Given the description of an element on the screen output the (x, y) to click on. 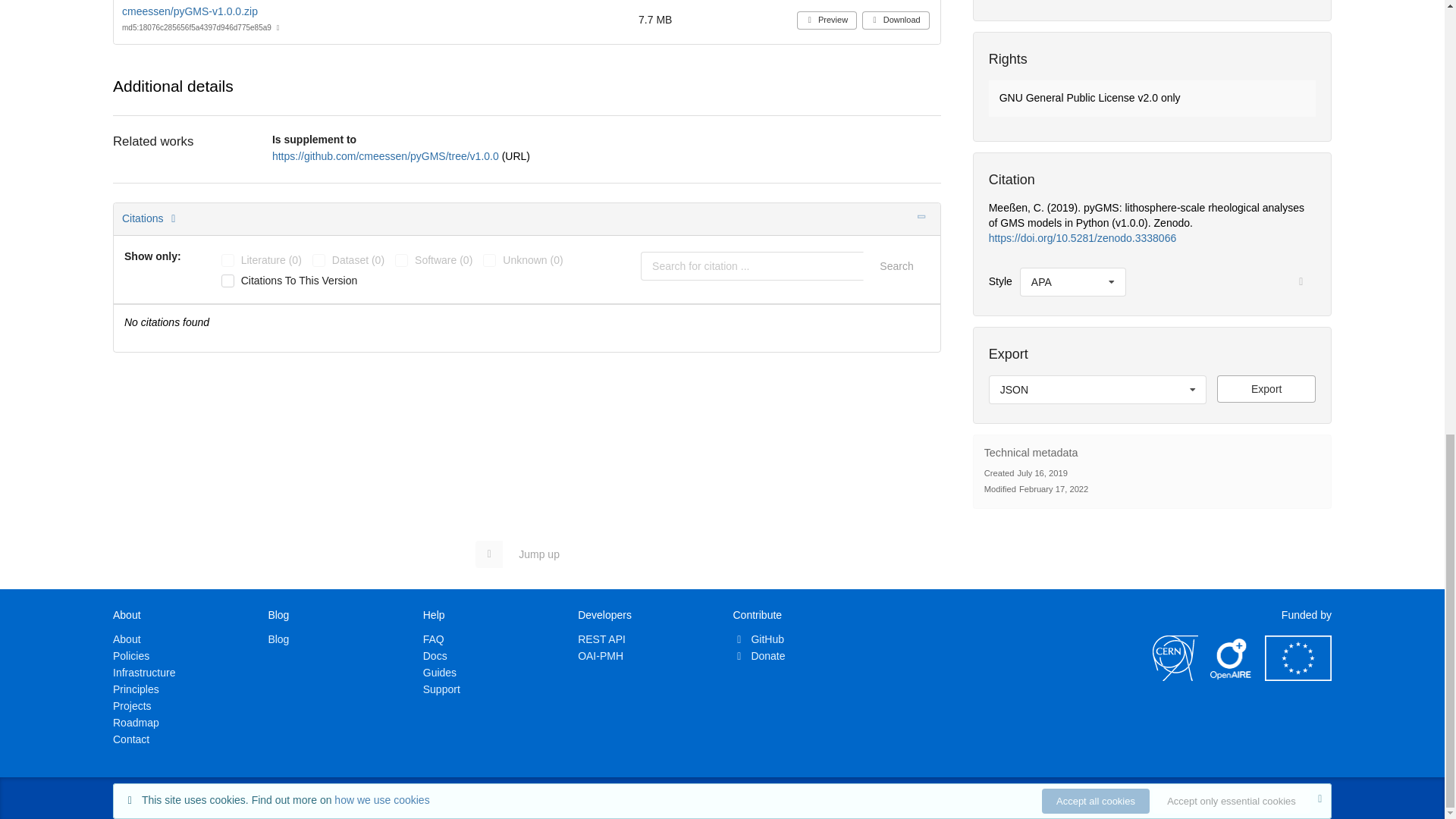
Export (1266, 388)
Infrastructure (143, 672)
Preview (826, 20)
Search (895, 265)
Opens in new tab (387, 155)
Download file (1266, 388)
About (127, 639)
Jump up (525, 554)
Roadmap (135, 722)
Policies (131, 655)
Projects (132, 705)
Contact (131, 739)
Principles (135, 689)
Download (895, 20)
